Given the description of an element on the screen output the (x, y) to click on. 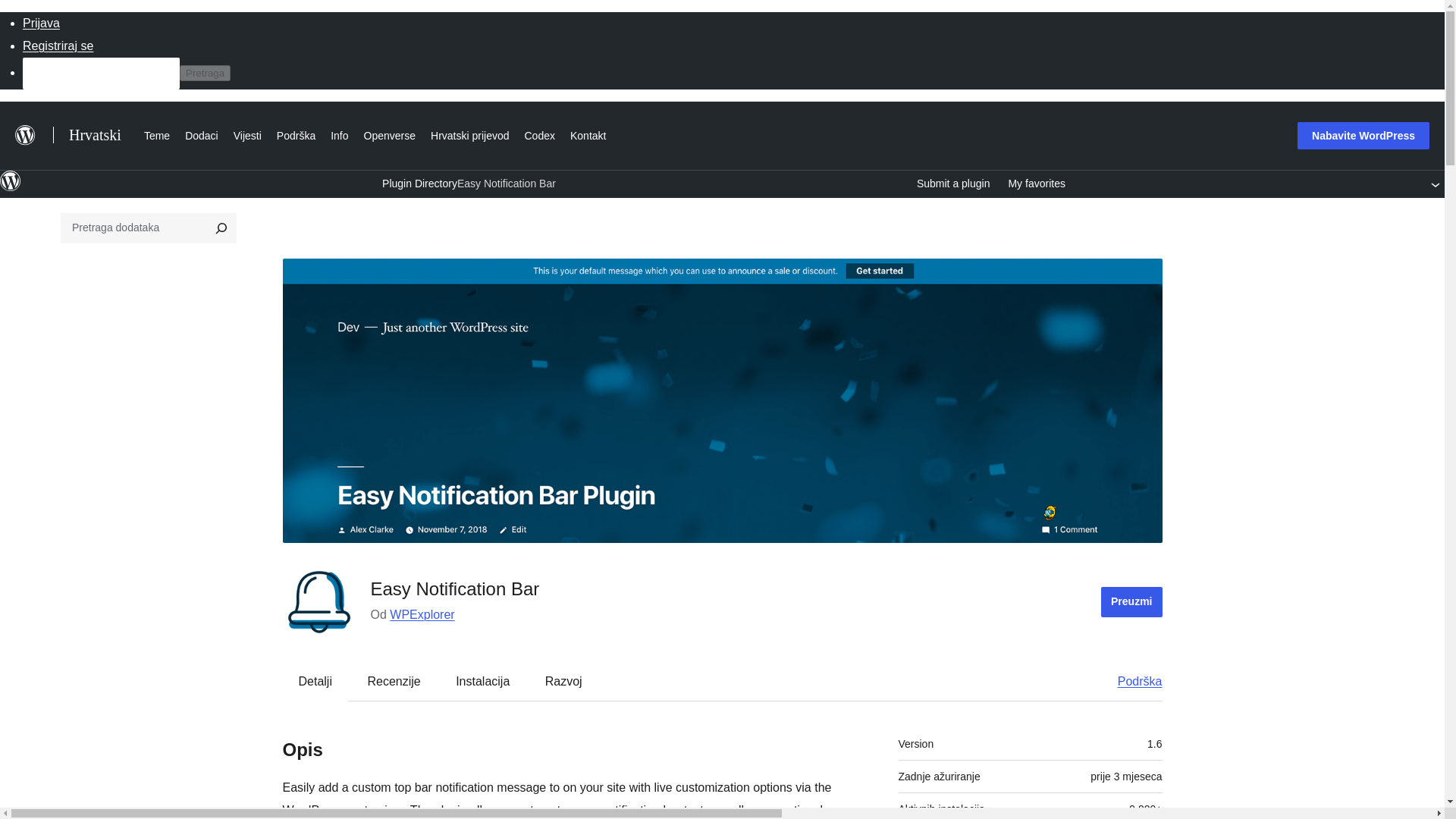
WordPress.org (10, 187)
Preuzmi (1130, 602)
Instalacija (482, 680)
WPExplorer (422, 614)
Razvoj (562, 680)
Plugin Directory (419, 183)
WordPress.org (10, 180)
Easy Notification Bar (506, 184)
Detalji (315, 680)
Pretraga (204, 73)
Pretraga (204, 73)
Openverse (389, 134)
Registriraj se (58, 45)
Recenzije (393, 680)
Hrvatski prijevod (469, 134)
